Given the description of an element on the screen output the (x, y) to click on. 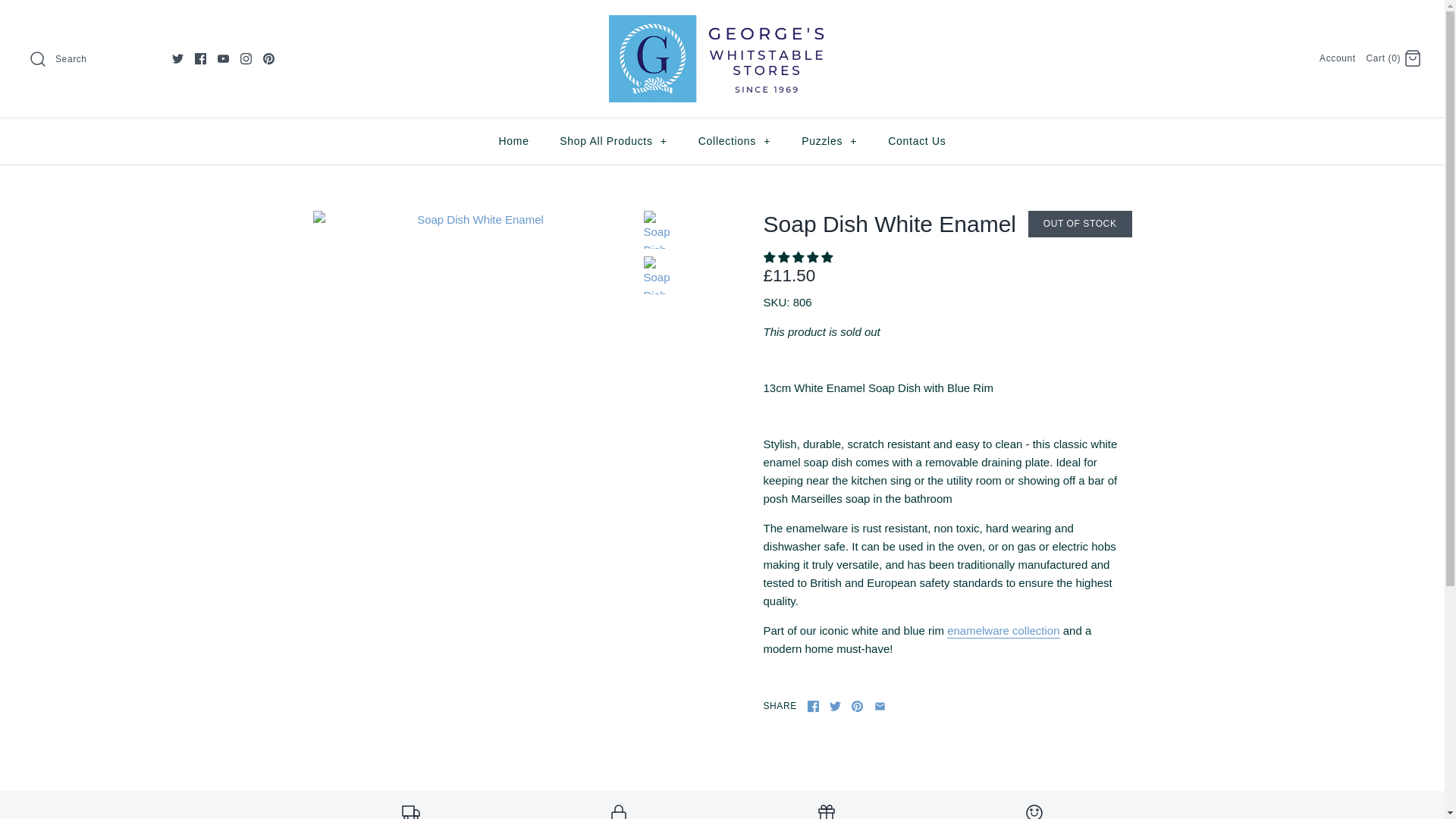
Instagram (245, 58)
Account (1337, 58)
Youtube (222, 58)
Pinterest (269, 58)
Youtube (222, 58)
Facebook (200, 58)
Enamelware Collection (1003, 631)
Email (880, 706)
Twitter (835, 706)
Home (512, 140)
Share on Twitter (835, 706)
Facebook (200, 58)
Instagram (245, 58)
Twitter (177, 58)
Soap Dish White Enamel (662, 229)
